Given the description of an element on the screen output the (x, y) to click on. 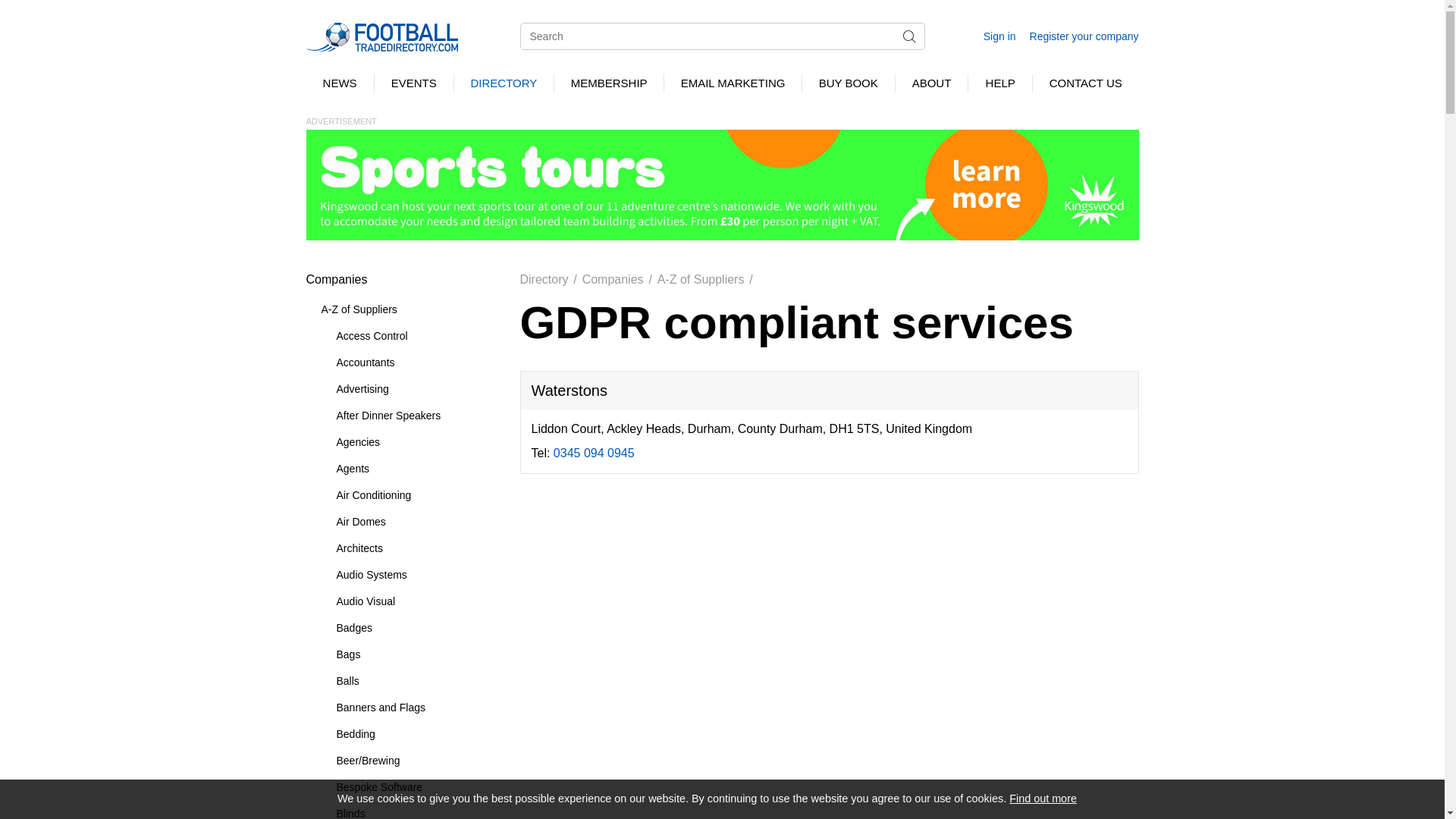
EVENTS (413, 83)
Search (908, 36)
Continue (1096, 799)
NEWS (339, 83)
DIRECTORY (503, 83)
Register your company (1083, 35)
Inspiring Learning - sports Tours Nov 23 (721, 183)
